Given the description of an element on the screen output the (x, y) to click on. 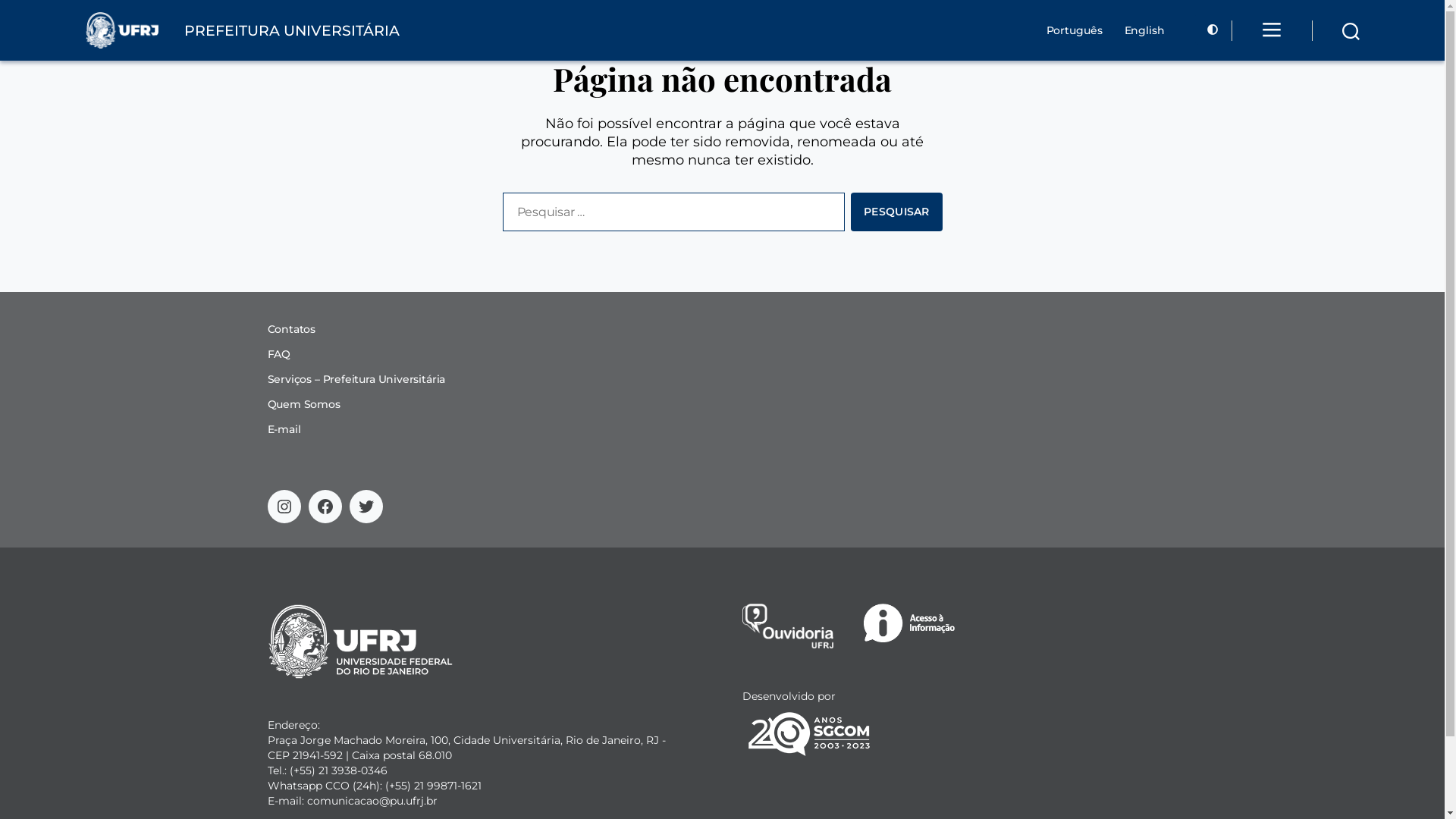
English Element type: text (1142, 30)
Quem Somos Element type: text (302, 404)
Pesquisar Element type: text (895, 211)
FAQ Element type: text (277, 353)
E-mail Element type: text (283, 429)
facebook Element type: text (324, 506)
Contatos Element type: text (290, 328)
instagram Element type: text (283, 506)
twitter Element type: text (365, 506)
